Given the description of an element on the screen output the (x, y) to click on. 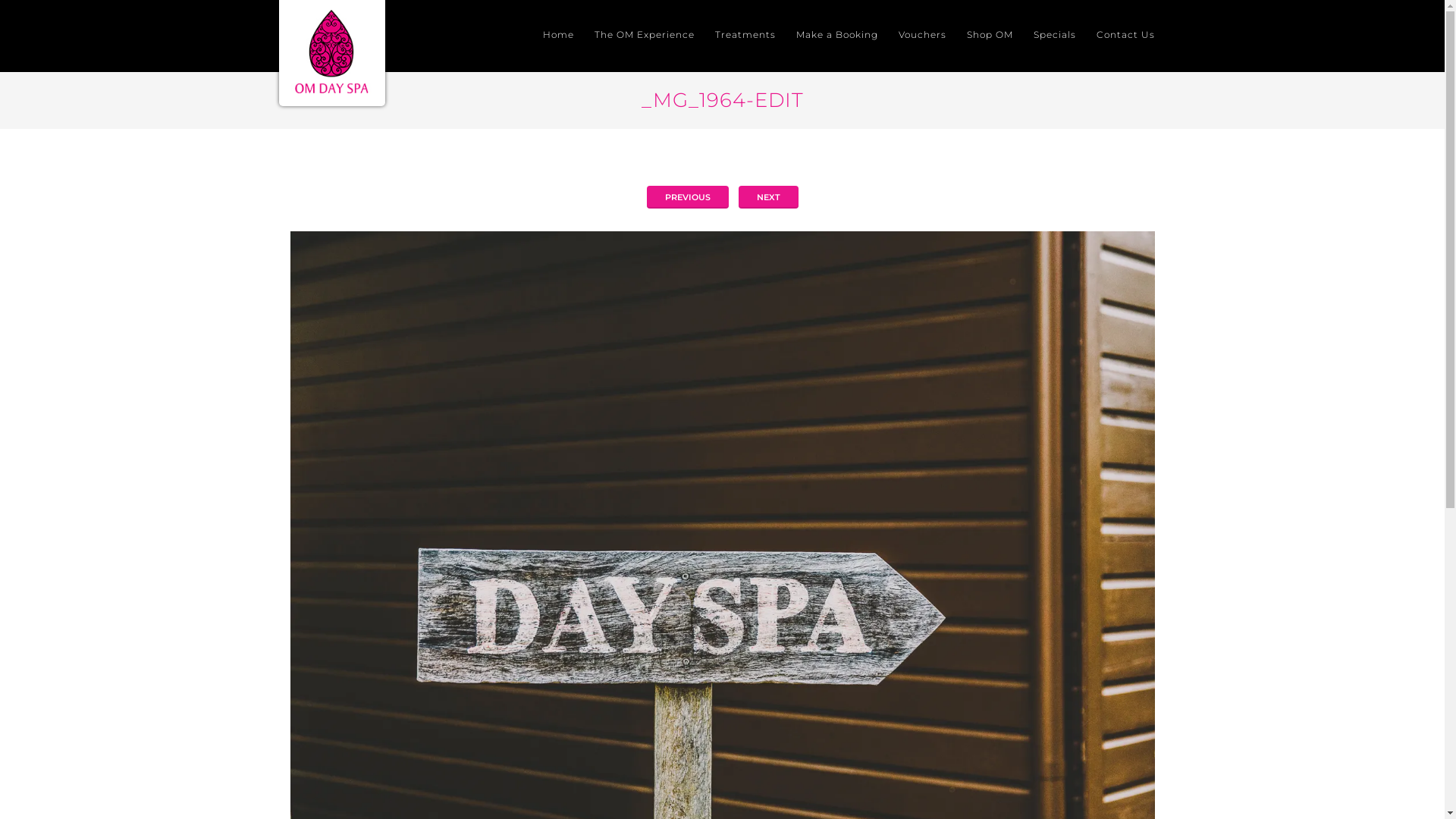
Skip to secondary content Element type: text (591, 34)
Make a Booking Element type: text (837, 36)
Specials Element type: text (1053, 36)
The OM Experience Element type: text (644, 36)
Skip to primary content Element type: text (586, 34)
PREVIOUS Element type: text (687, 196)
Home Element type: text (558, 36)
Treatments Element type: text (744, 36)
Shop OM Element type: text (989, 36)
Contact Us Element type: text (1125, 36)
OM Day Spa Element type: hover (331, 51)
Vouchers Element type: text (921, 36)
NEXT Element type: text (768, 196)
